Given the description of an element on the screen output the (x, y) to click on. 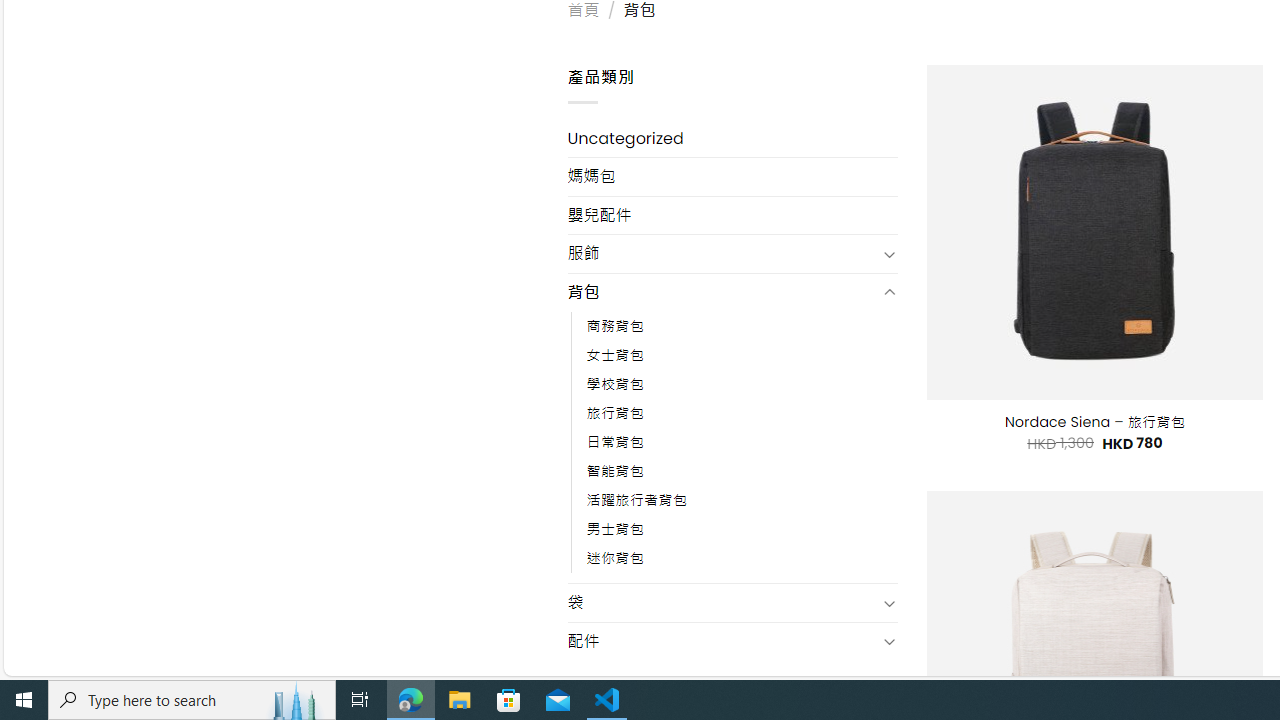
Uncategorized (732, 137)
Uncategorized (732, 137)
